Given the description of an element on the screen output the (x, y) to click on. 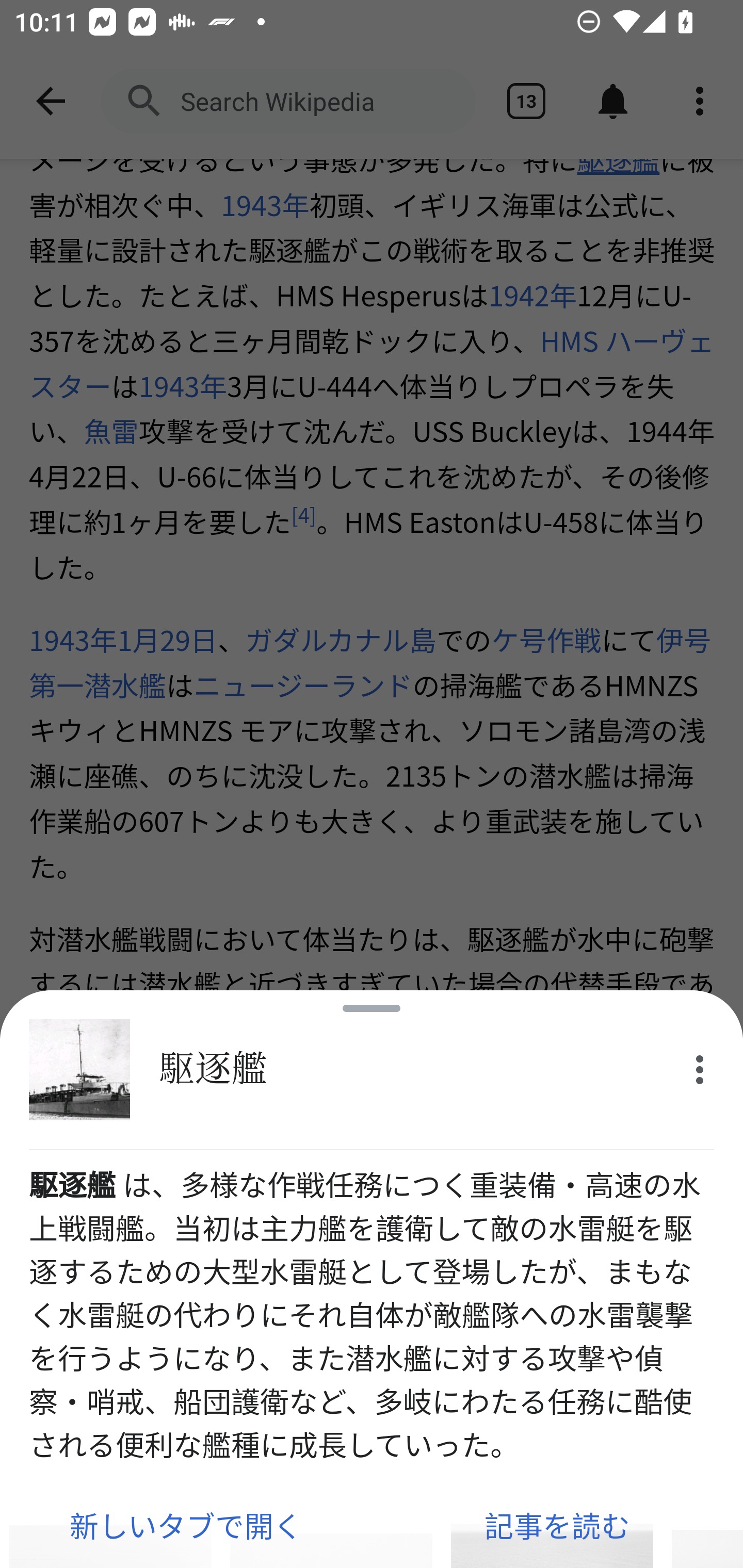
駆逐艦 More options (371, 1069)
More options (699, 1070)
新しいタブで開く (185, 1524)
記事を読む (557, 1524)
